Given the description of an element on the screen output the (x, y) to click on. 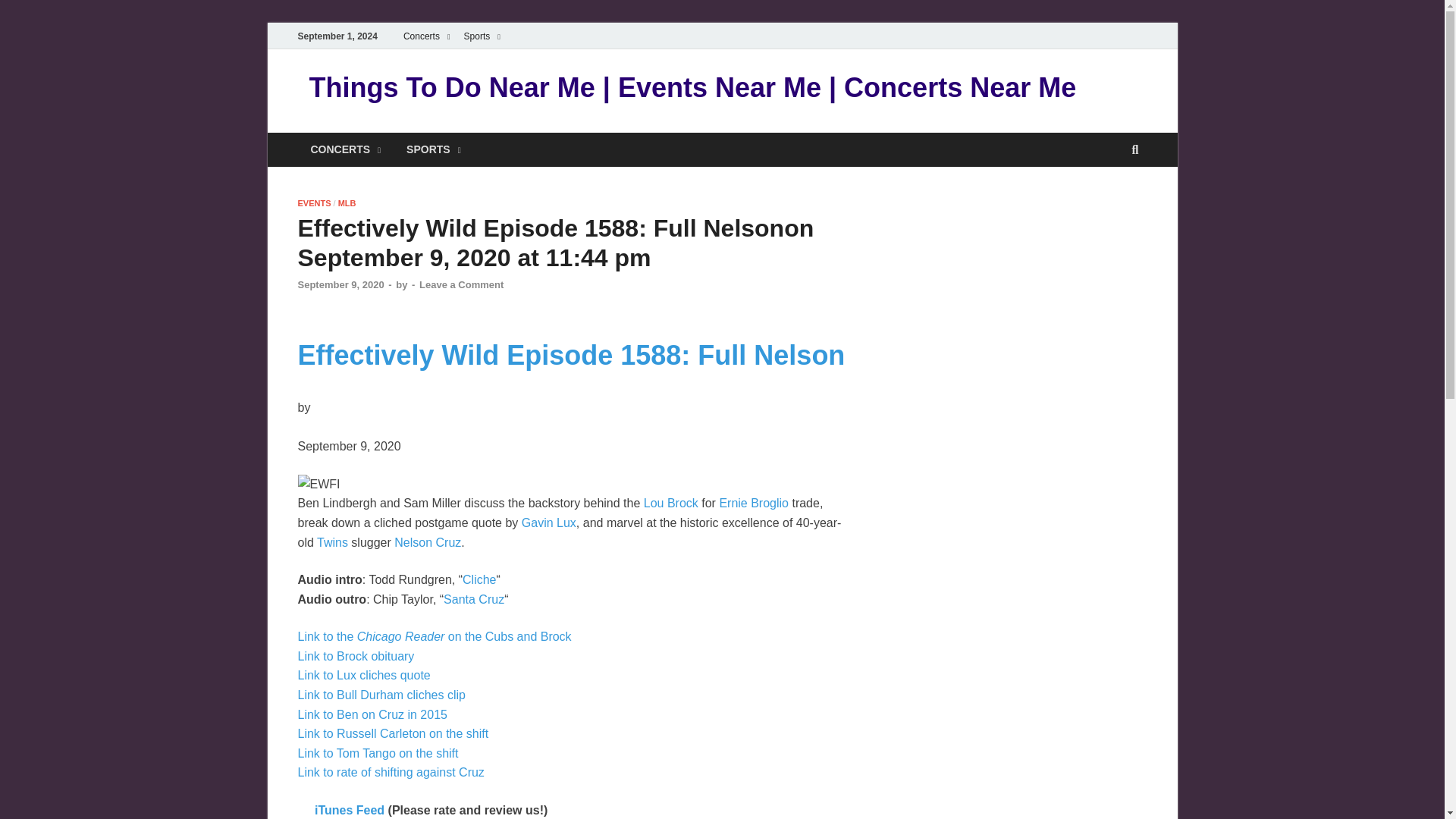
Nelson Cruz (427, 541)
Effectively Wild Episode 1588: Full Nelson (570, 355)
Concerts (426, 35)
SPORTS (433, 149)
CONCERTS (345, 149)
Ernie Broglio (754, 502)
Lou Brock (670, 502)
Permanent link to Effectively Wild Episode 1588: Full Nelson (570, 355)
Cliche (479, 579)
MLB (346, 203)
